Given the description of an element on the screen output the (x, y) to click on. 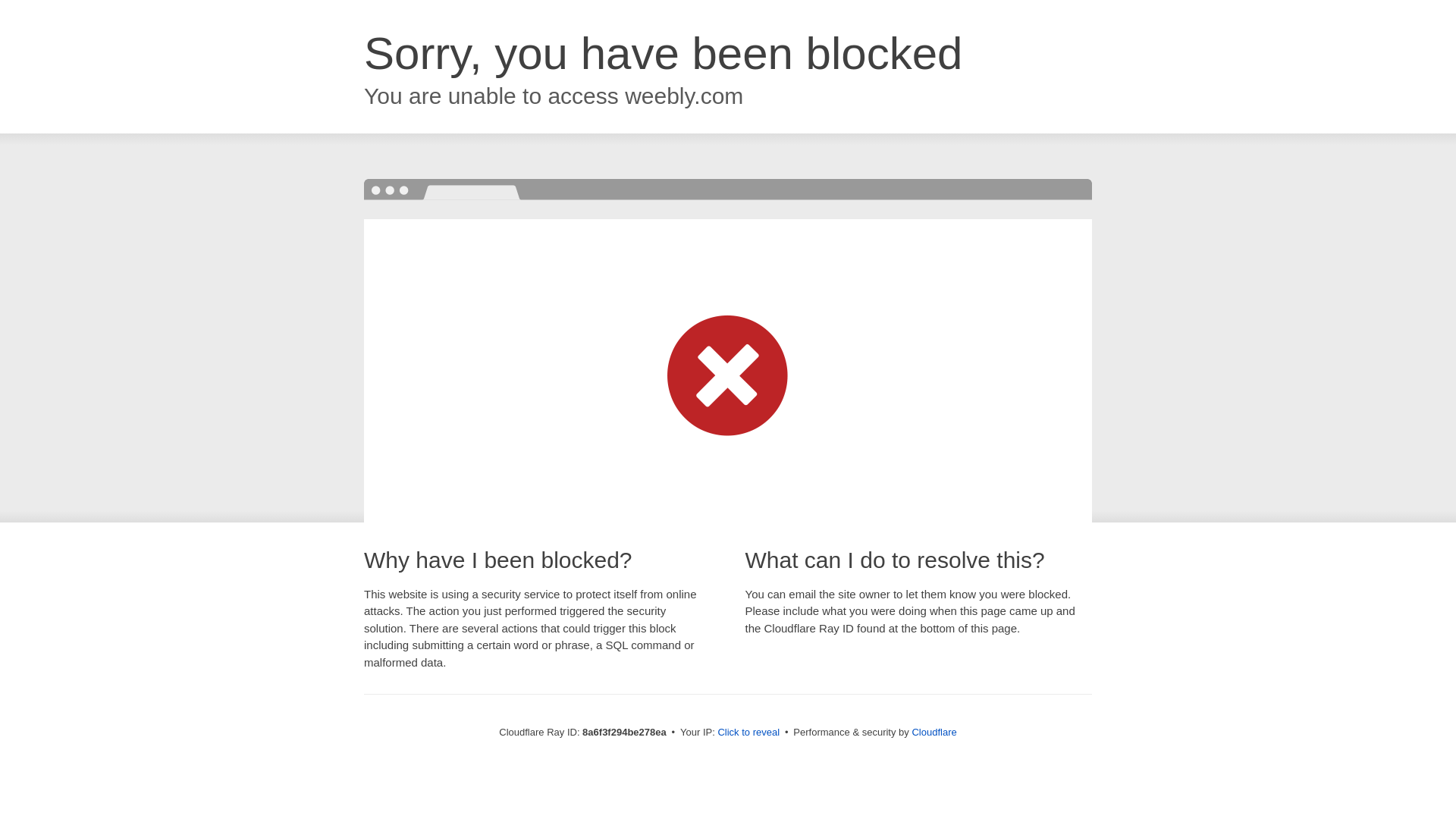
Cloudflare (933, 731)
Click to reveal (747, 732)
